Given the description of an element on the screen output the (x, y) to click on. 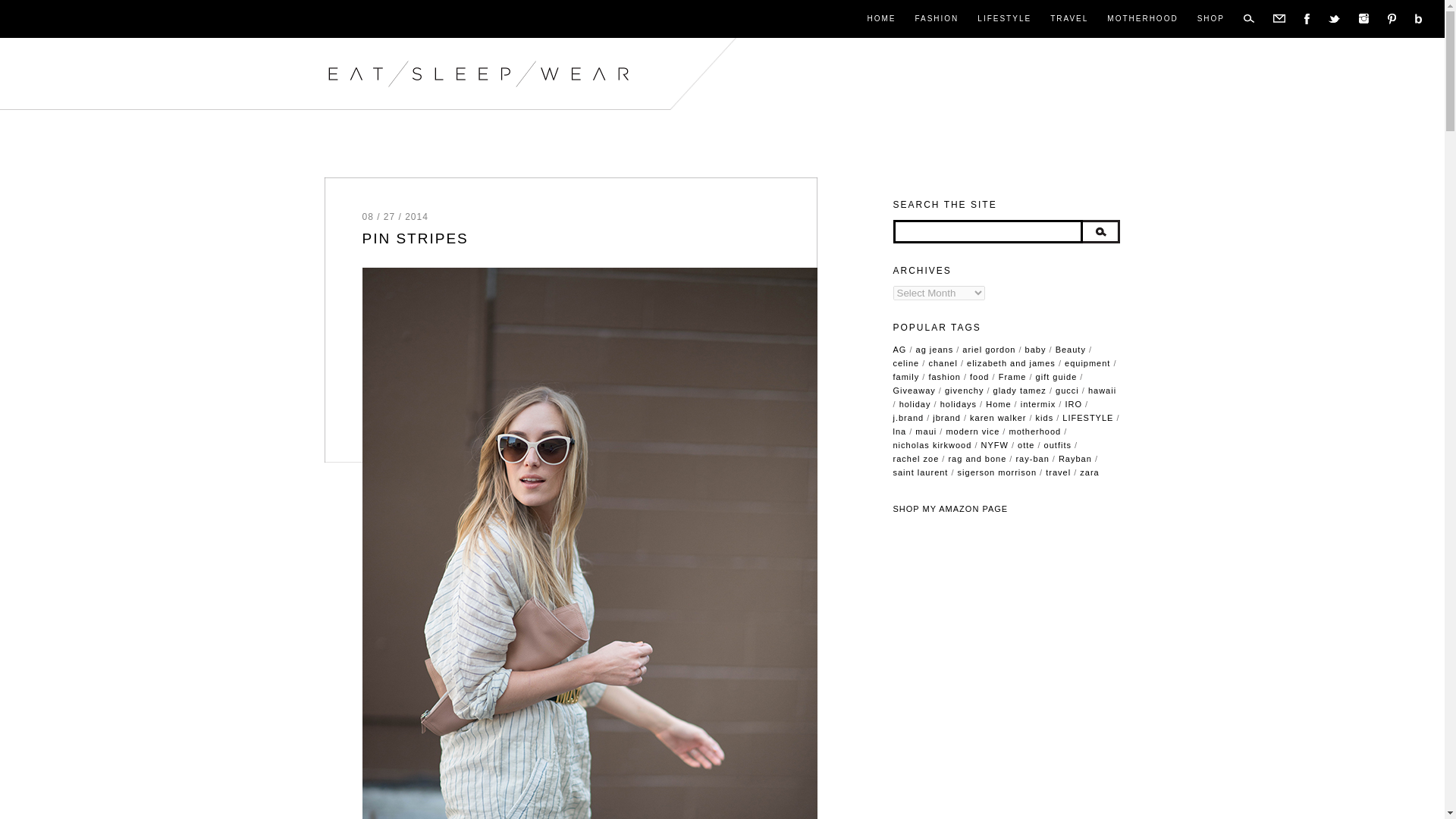
Search (1101, 231)
MOTHERHOOD (1141, 18)
FASHION (936, 18)
TRAVEL (1068, 18)
SHOP (1210, 18)
Search (1101, 231)
HOME (880, 18)
LIFESTYLE (1003, 18)
